Given the description of an element on the screen output the (x, y) to click on. 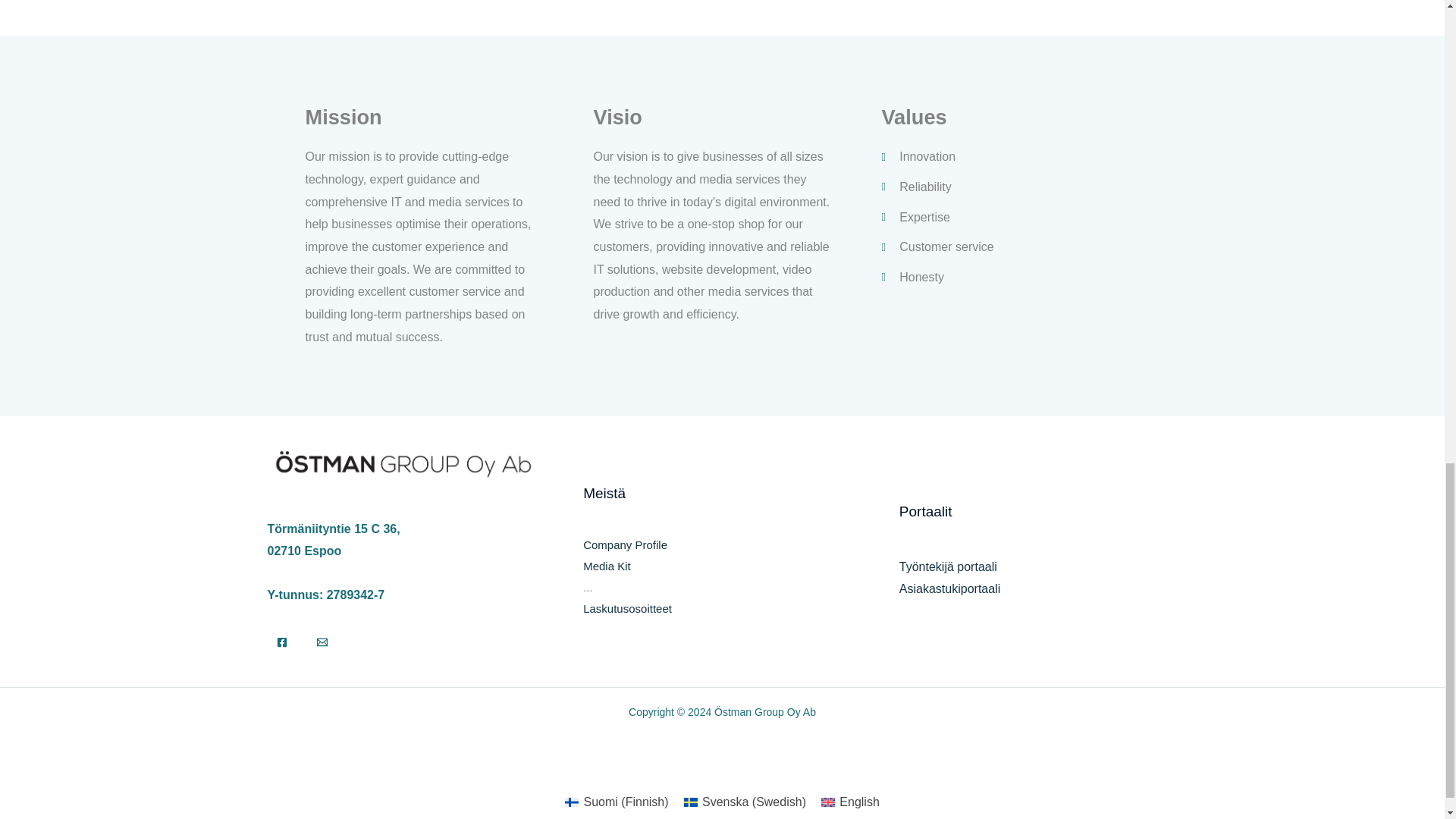
Company Profile (624, 544)
Media Kit (606, 565)
Asiakastukiportaali (949, 588)
Laskutusosoitteet (627, 608)
English (849, 802)
